Given the description of an element on the screen output the (x, y) to click on. 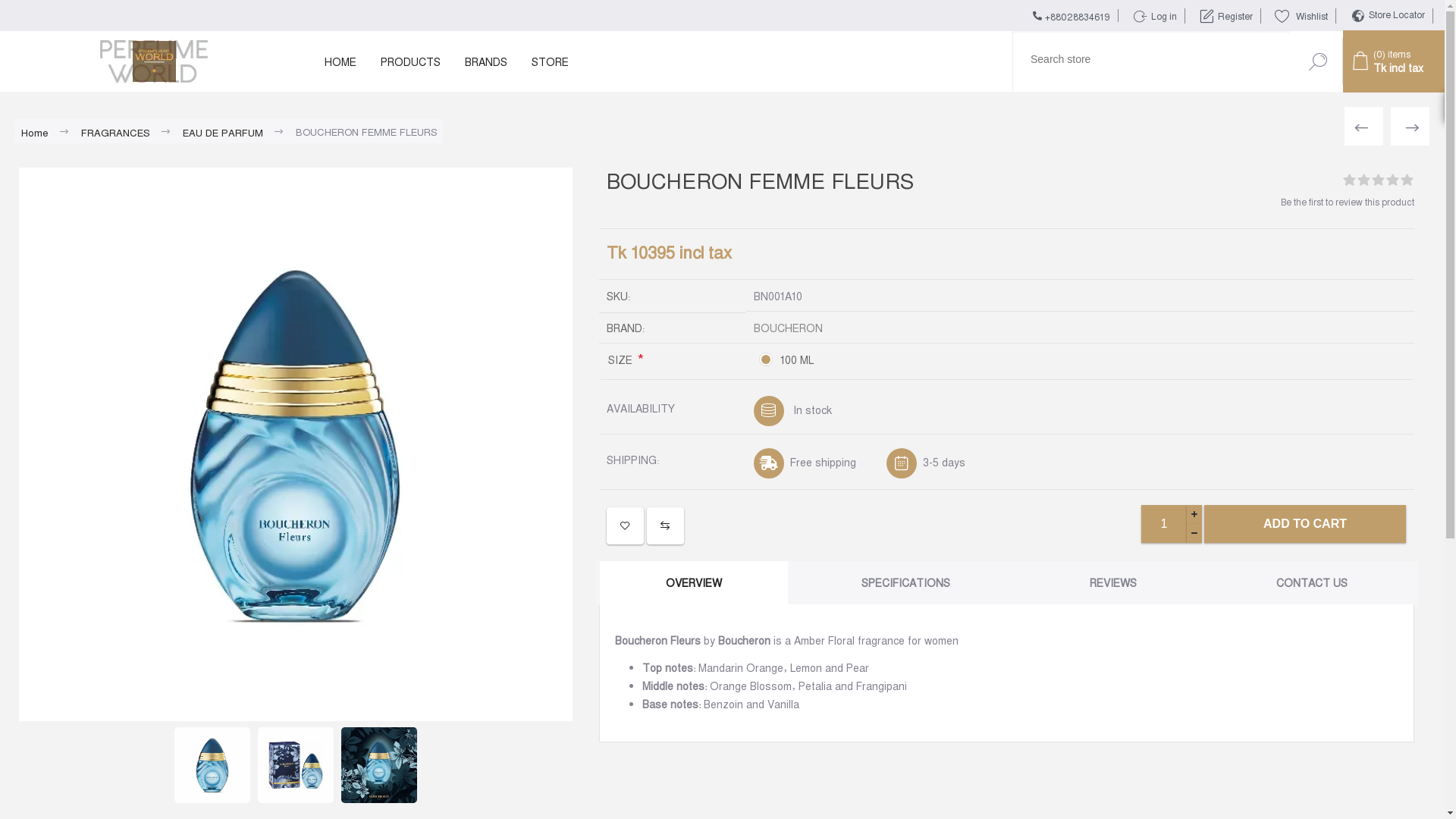
SPECIFICATIONS Element type: text (905, 582)
STORE Element type: text (549, 60)
BOUCHERON Element type: text (787, 327)
ADD TO COMPARE LIST Element type: text (665, 525)
OVERVIEW Element type: text (693, 582)
Register Element type: text (1225, 14)
+88028834619 Element type: text (1071, 15)
Be the first to review this product Element type: text (1347, 201)
BOUCHERON JAIPUR BOUQUET Element type: text (1363, 125)
FRAGRANCES Element type: text (114, 131)
(0) items
Tk incl tax Element type: text (1387, 61)
Store Locator Element type: text (1386, 14)
REVIEWS Element type: text (1112, 582)
Home Element type: text (34, 131)
EAU DE PARFUM Element type: text (222, 131)
BOSS JOUR POUR FEMME EDP Element type: text (1409, 125)
PRODUCTS Element type: text (410, 60)
Search Element type: text (1320, 57)
ADD TO WISHLIST Element type: text (624, 525)
BRANDS Element type: text (485, 60)
CONTACT US Element type: text (1311, 582)
Log in Element type: text (1154, 14)
HOME Element type: text (340, 60)
(0)
Wishlist Element type: text (1300, 14)
ADD TO CART Element type: text (1304, 523)
